Given the description of an element on the screen output the (x, y) to click on. 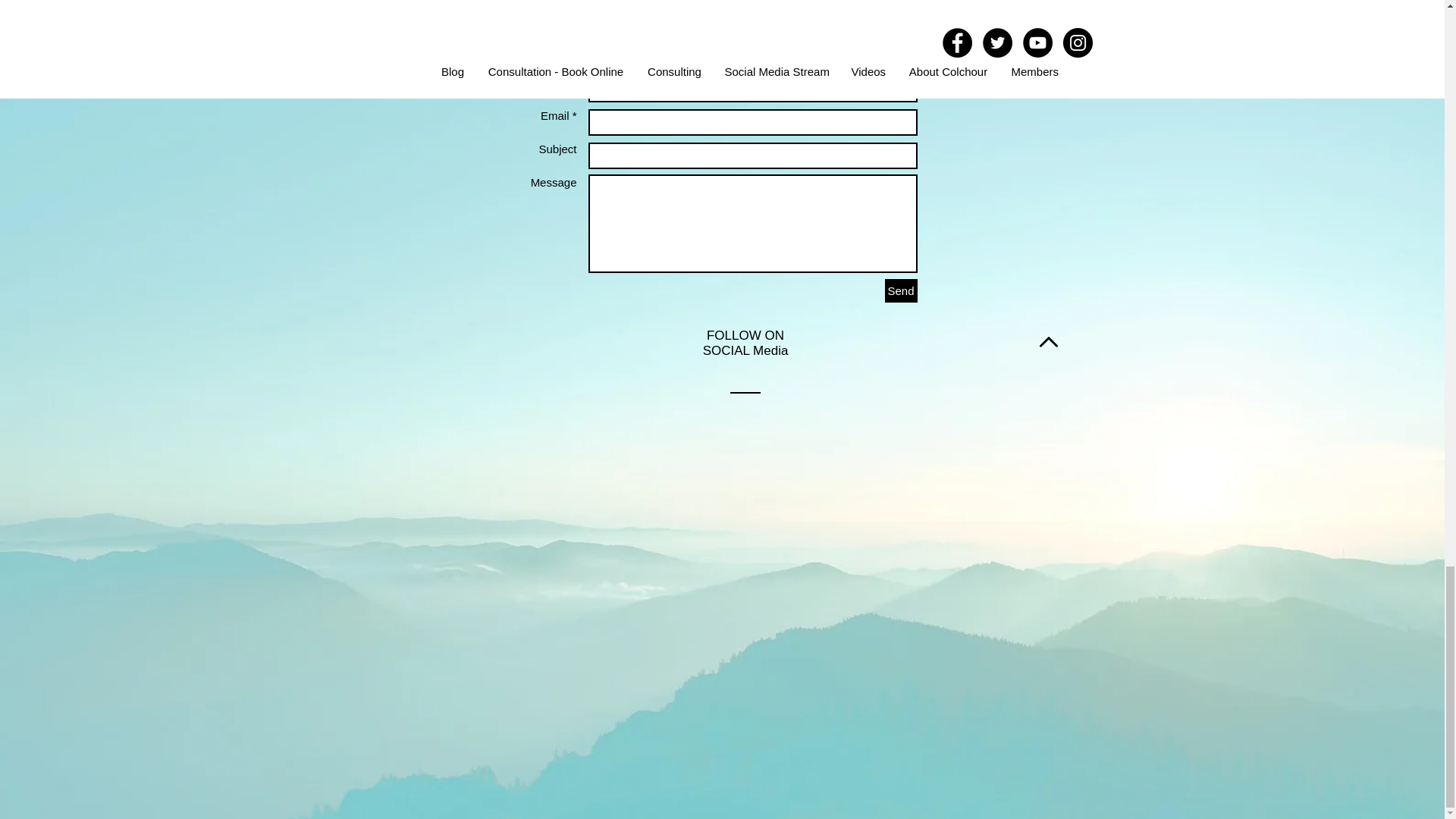
Send (900, 290)
